Given the description of an element on the screen output the (x, y) to click on. 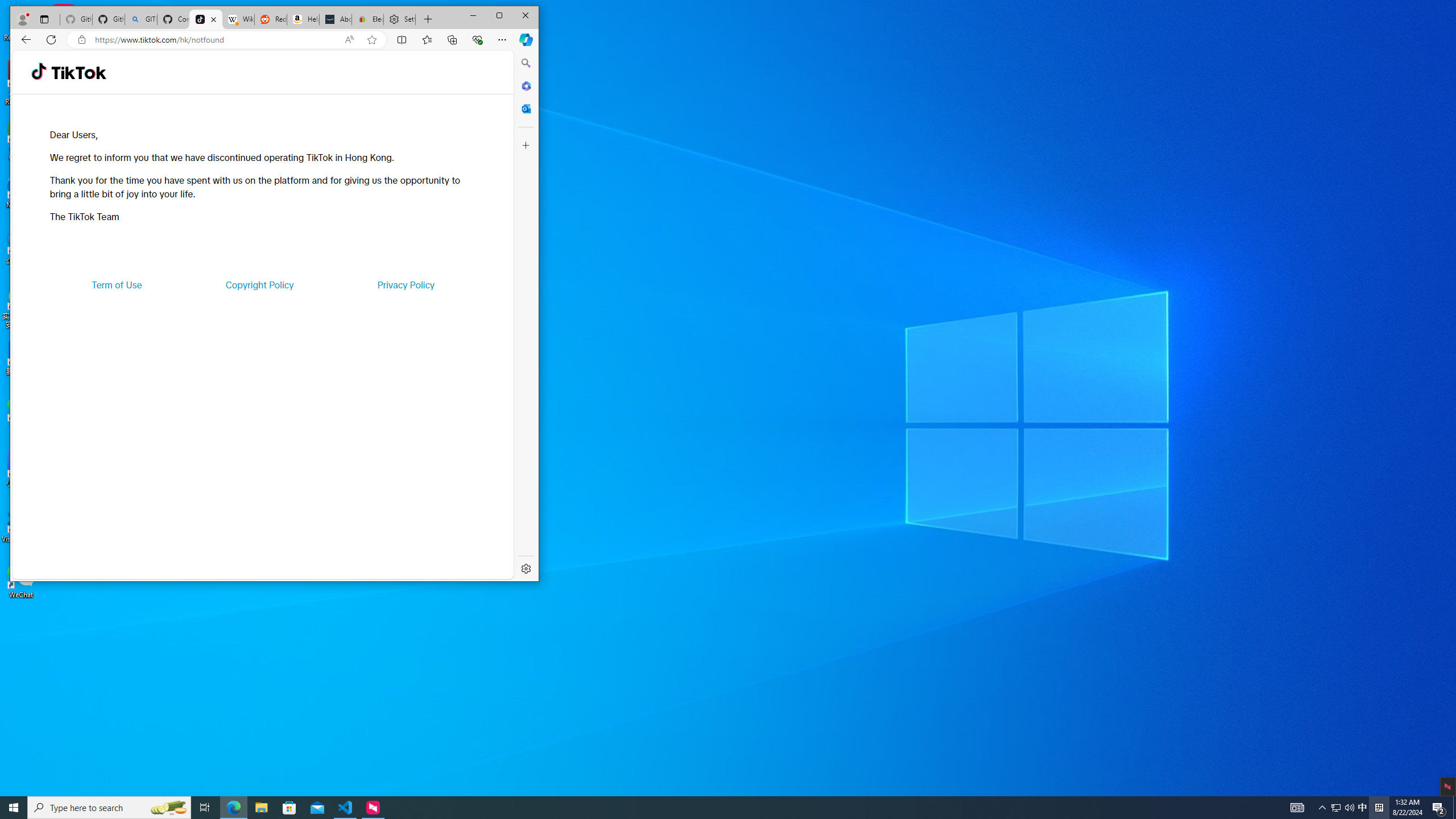
Start (13, 807)
